Given the description of an element on the screen output the (x, y) to click on. 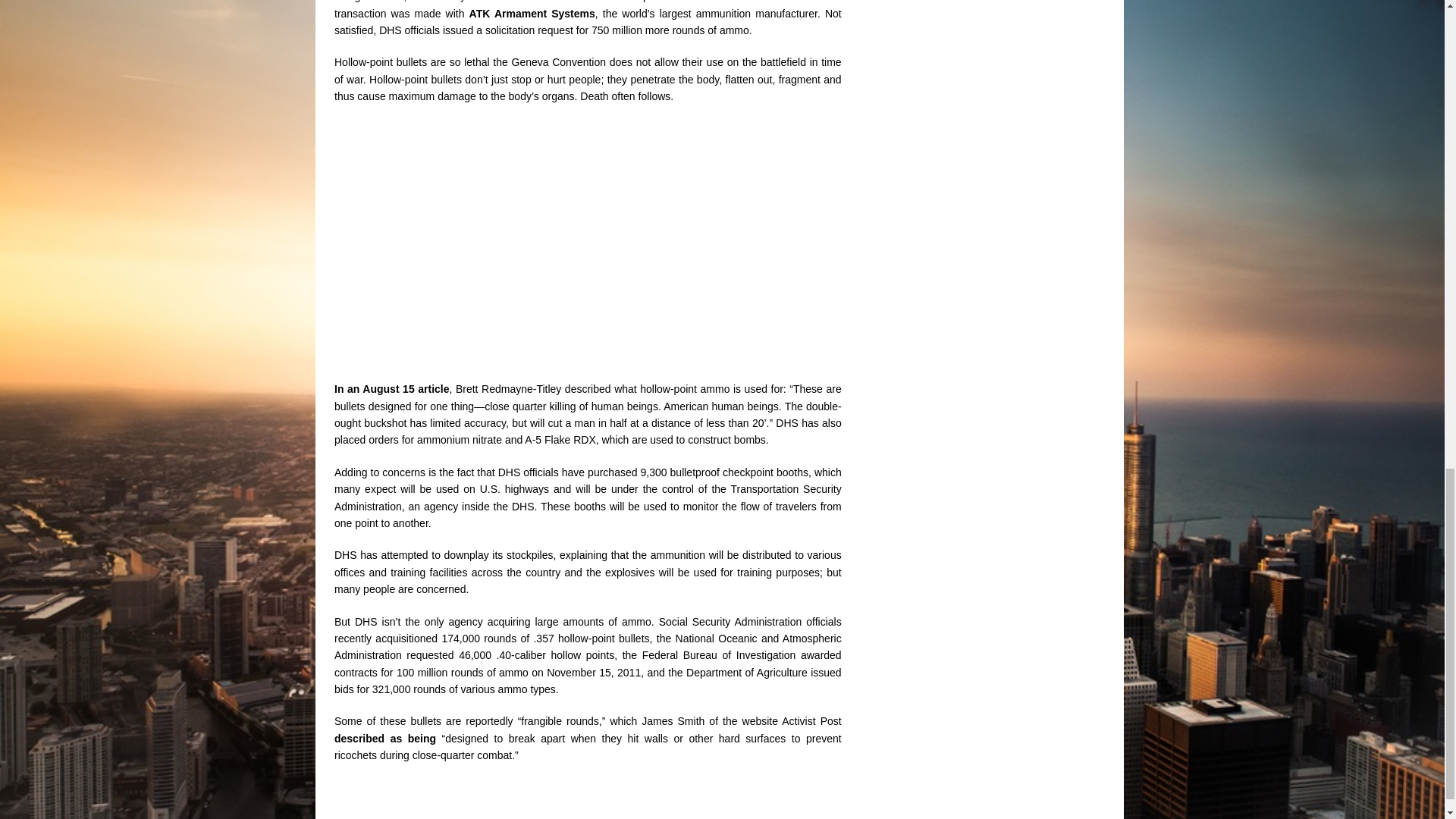
Armament Systems (545, 13)
ATK (481, 13)
